Given the description of an element on the screen output the (x, y) to click on. 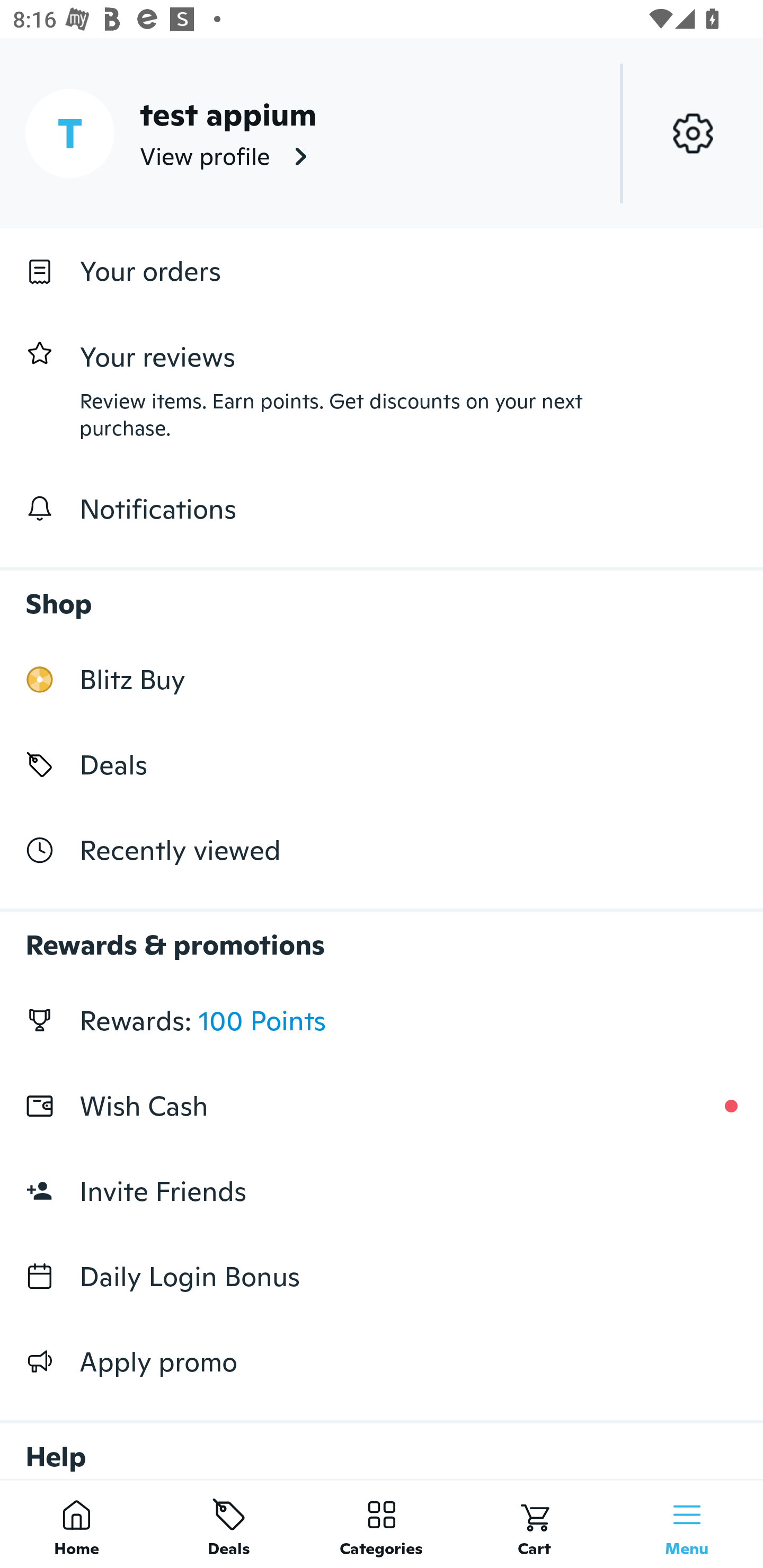
T test appium View profile (381, 132)
Your orders (381, 270)
Notifications (381, 508)
Shop (381, 593)
Blitz Buy (381, 679)
Deals (381, 764)
Recently viewed (381, 850)
Rewards & promotions (381, 935)
Rewards: 100 Points (381, 1020)
Wish Cash (381, 1106)
Invite Friends (381, 1190)
Daily Login Bonus (381, 1277)
Apply promo (381, 1361)
Help (381, 1441)
Home (76, 1523)
Deals (228, 1523)
Categories (381, 1523)
Cart (533, 1523)
Menu (686, 1523)
